Given the description of an element on the screen output the (x, y) to click on. 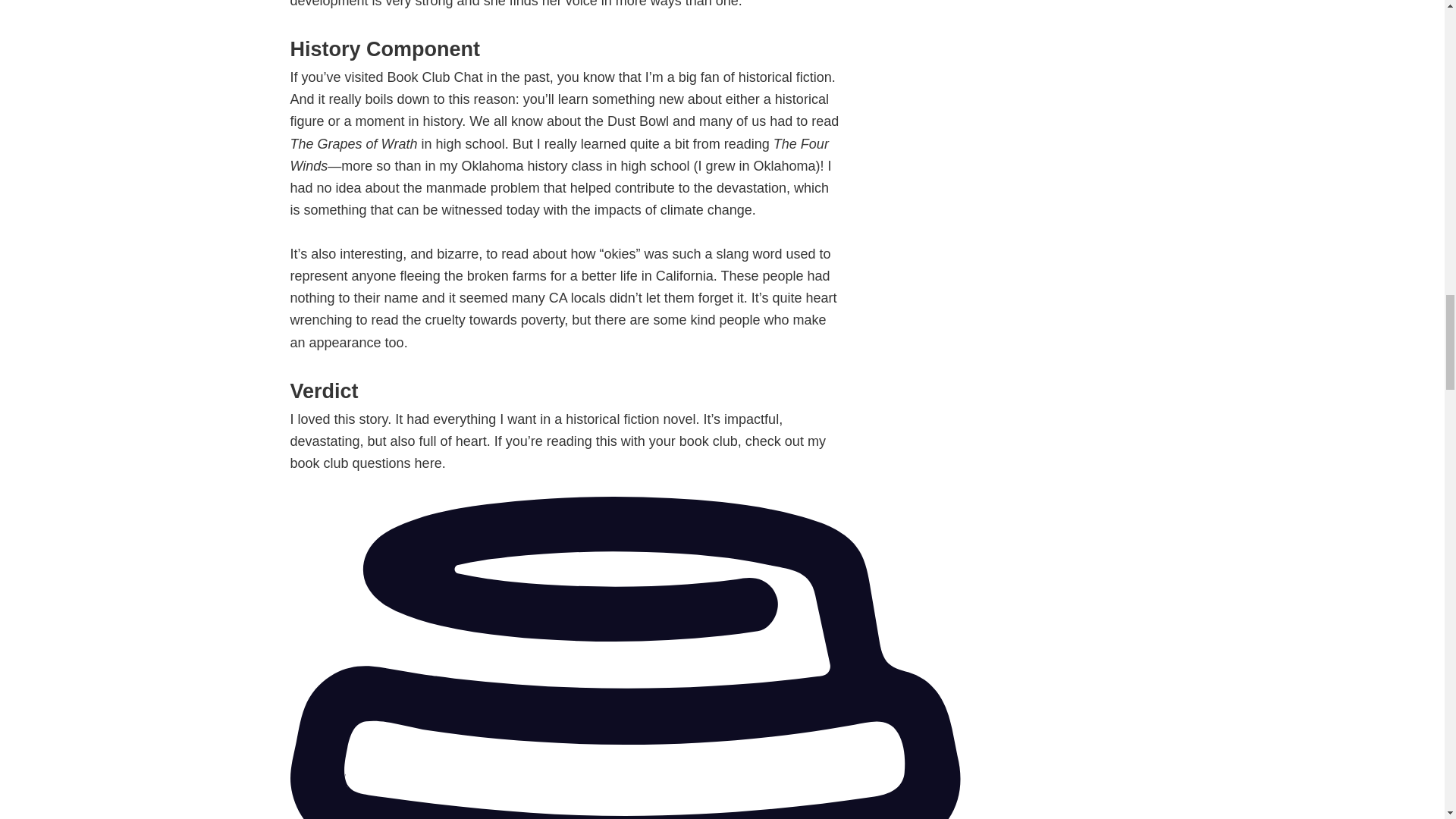
here (428, 462)
